Given the description of an element on the screen output the (x, y) to click on. 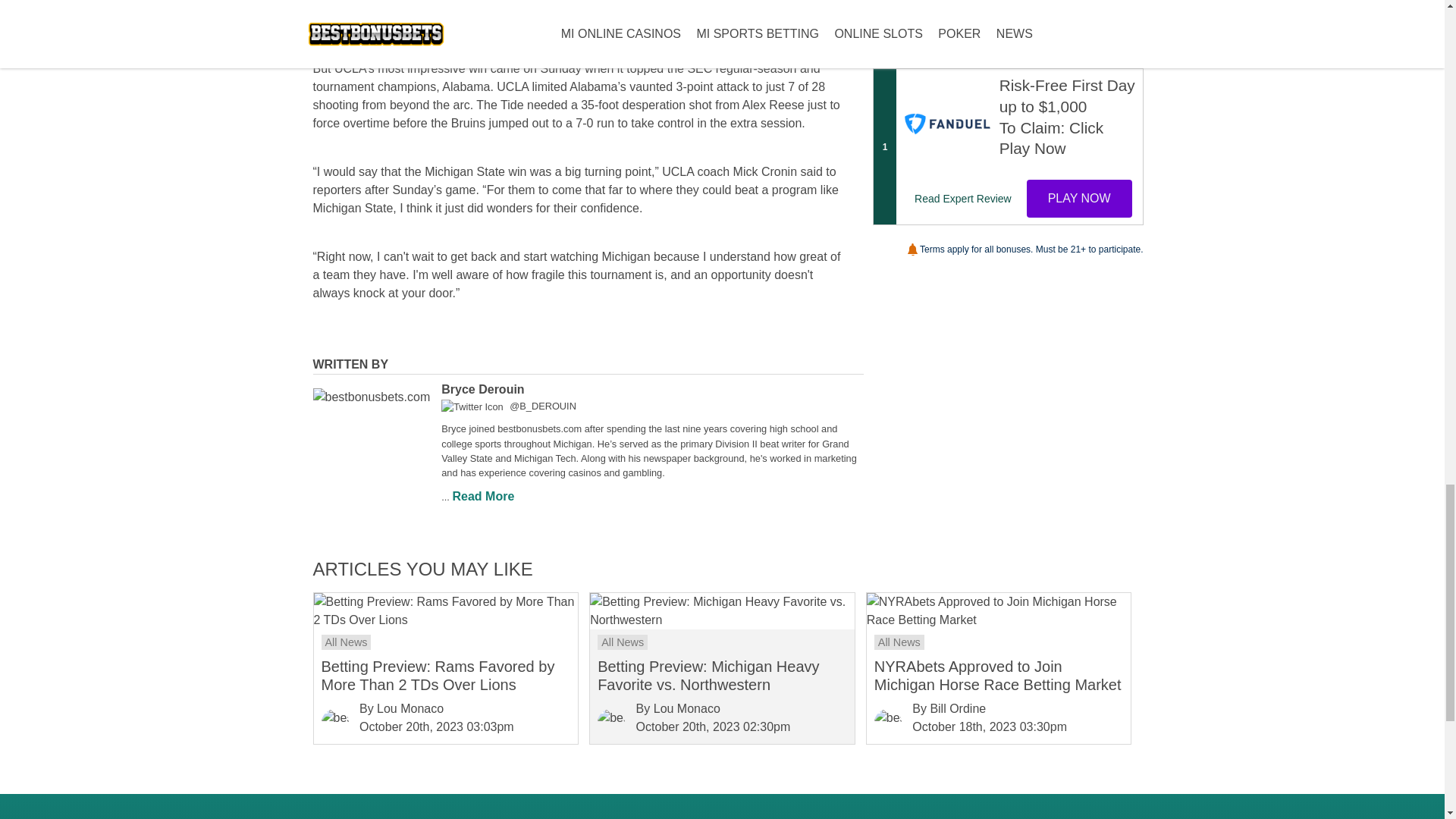
bestbonusbets.com (888, 722)
Betting Preview: Rams Favored by More Than 2 TDs Over Lions (446, 610)
Twitter Icon (471, 406)
bestbonusbets.com (335, 722)
Betting Preview: Michigan Heavy Favorite vs. Northwestern (721, 610)
NYRAbets Approved to Join Michigan Horse Race Betting Market (998, 610)
bestbonusbets.com (610, 722)
bestbonusbets.com (371, 397)
